Given the description of an element on the screen output the (x, y) to click on. 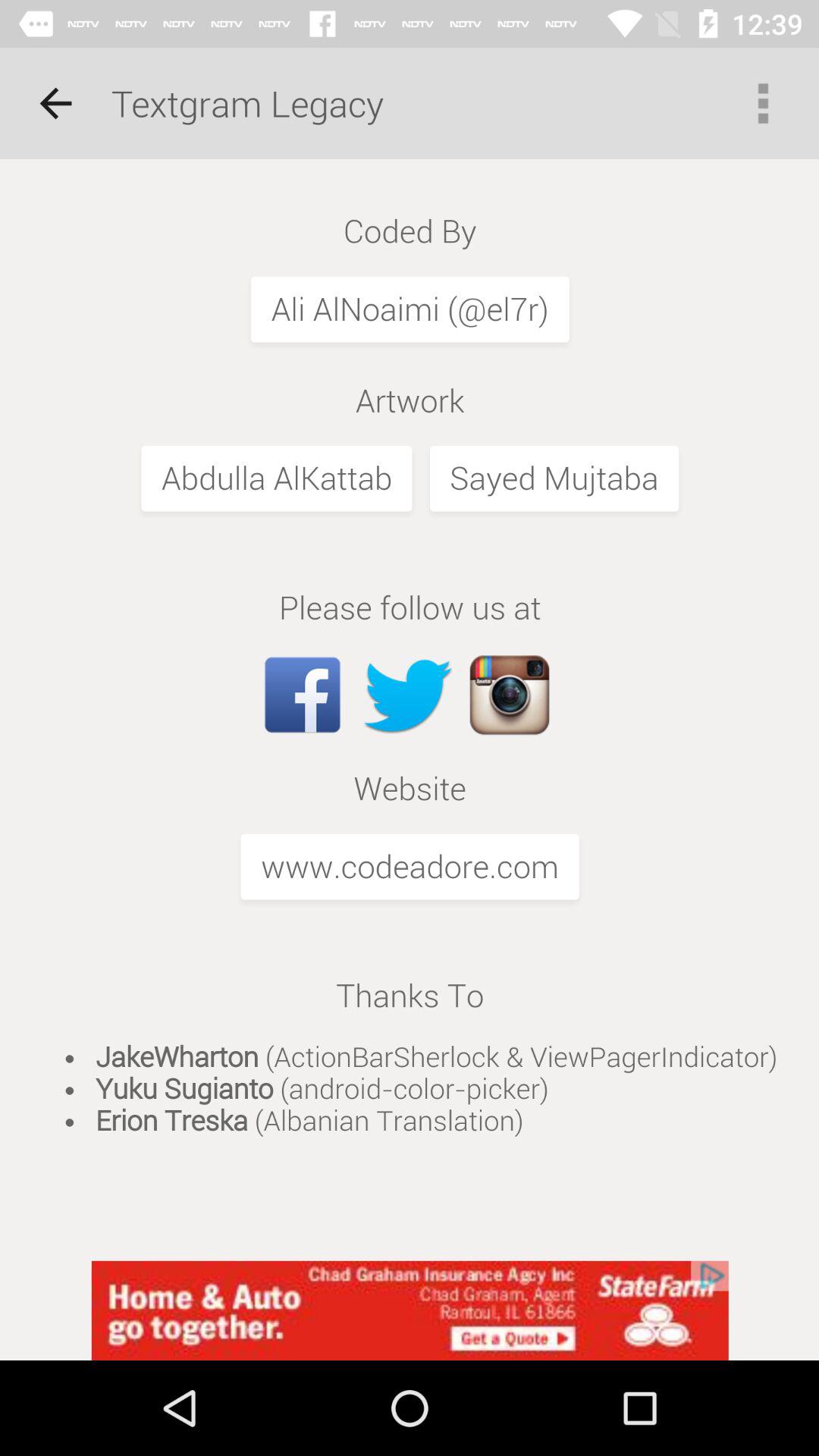
scroll website (409, 709)
